Given the description of an element on the screen output the (x, y) to click on. 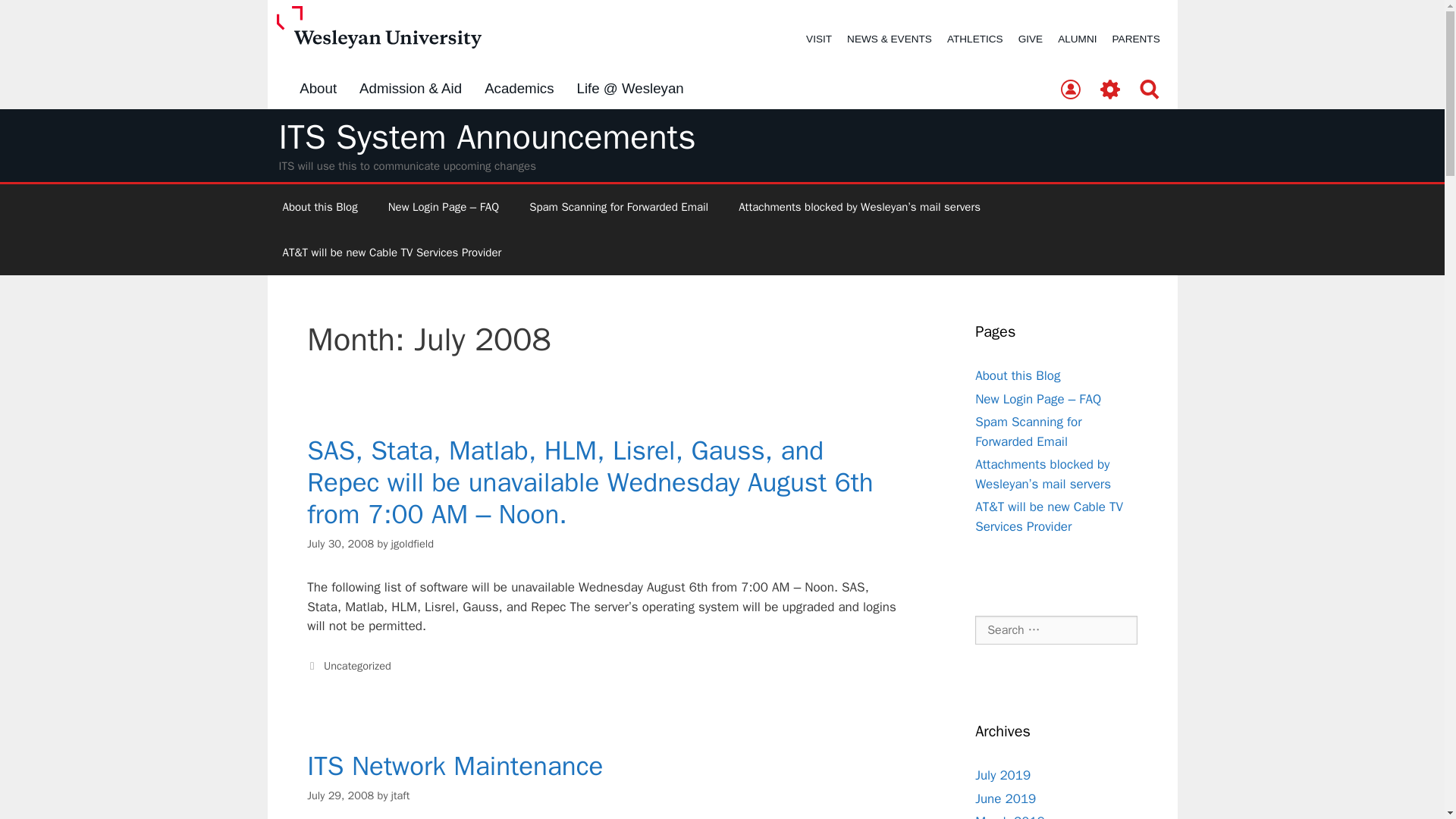
jgoldfield (412, 543)
Search (1149, 90)
View all posts by jgoldfield (412, 543)
PARENTS (1136, 39)
About this Blog (319, 207)
Tools (1109, 90)
Uncategorized (357, 665)
Academics (518, 89)
Directory (1069, 90)
About (317, 89)
ITS Network Maintenance (454, 765)
Spam Scanning for Forwarded Email (618, 207)
View all posts by jtaft (400, 795)
jtaft (400, 795)
VISIT (818, 39)
